Given the description of an element on the screen output the (x, y) to click on. 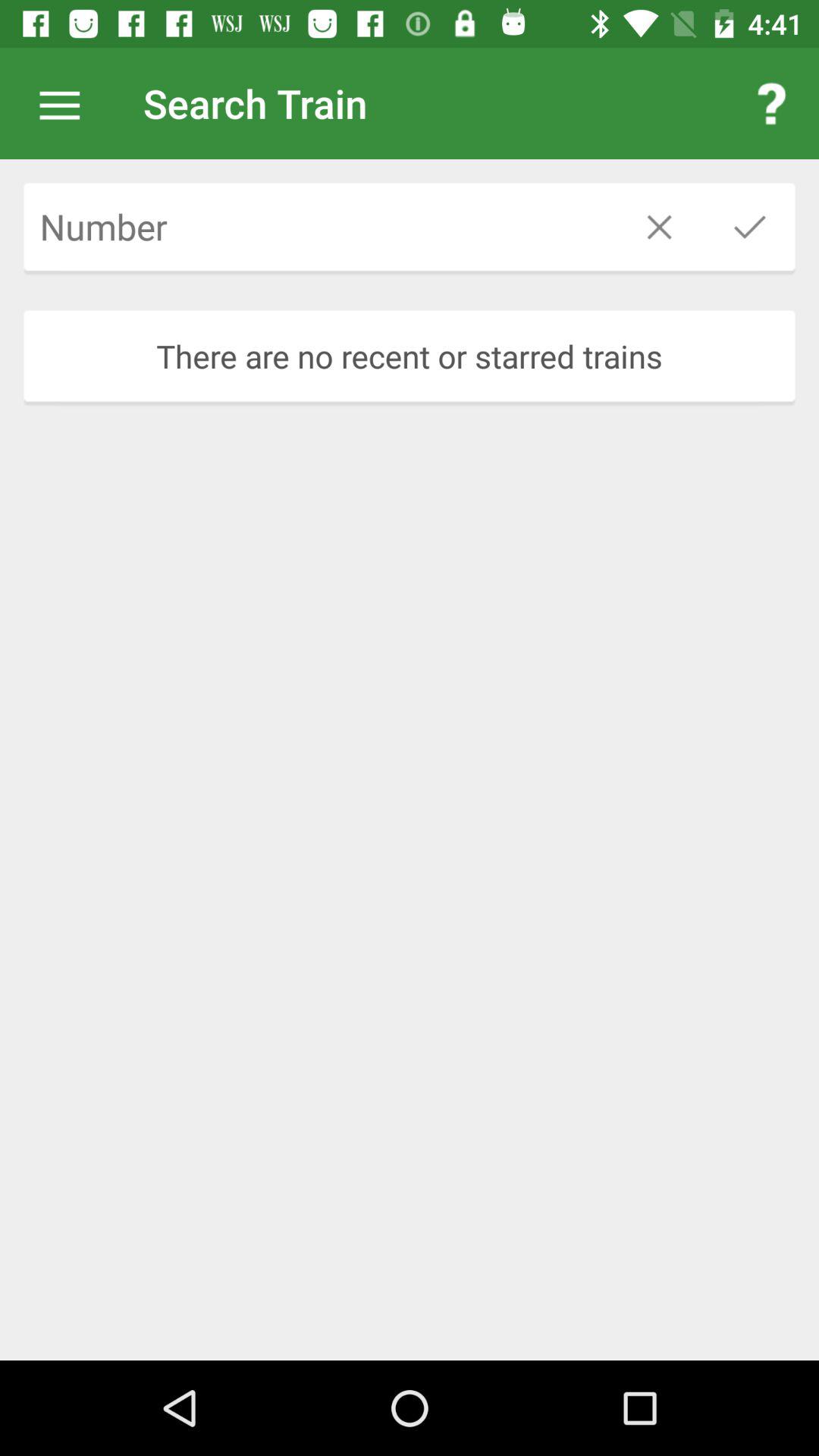
enter number to search (318, 226)
